Given the description of an element on the screen output the (x, y) to click on. 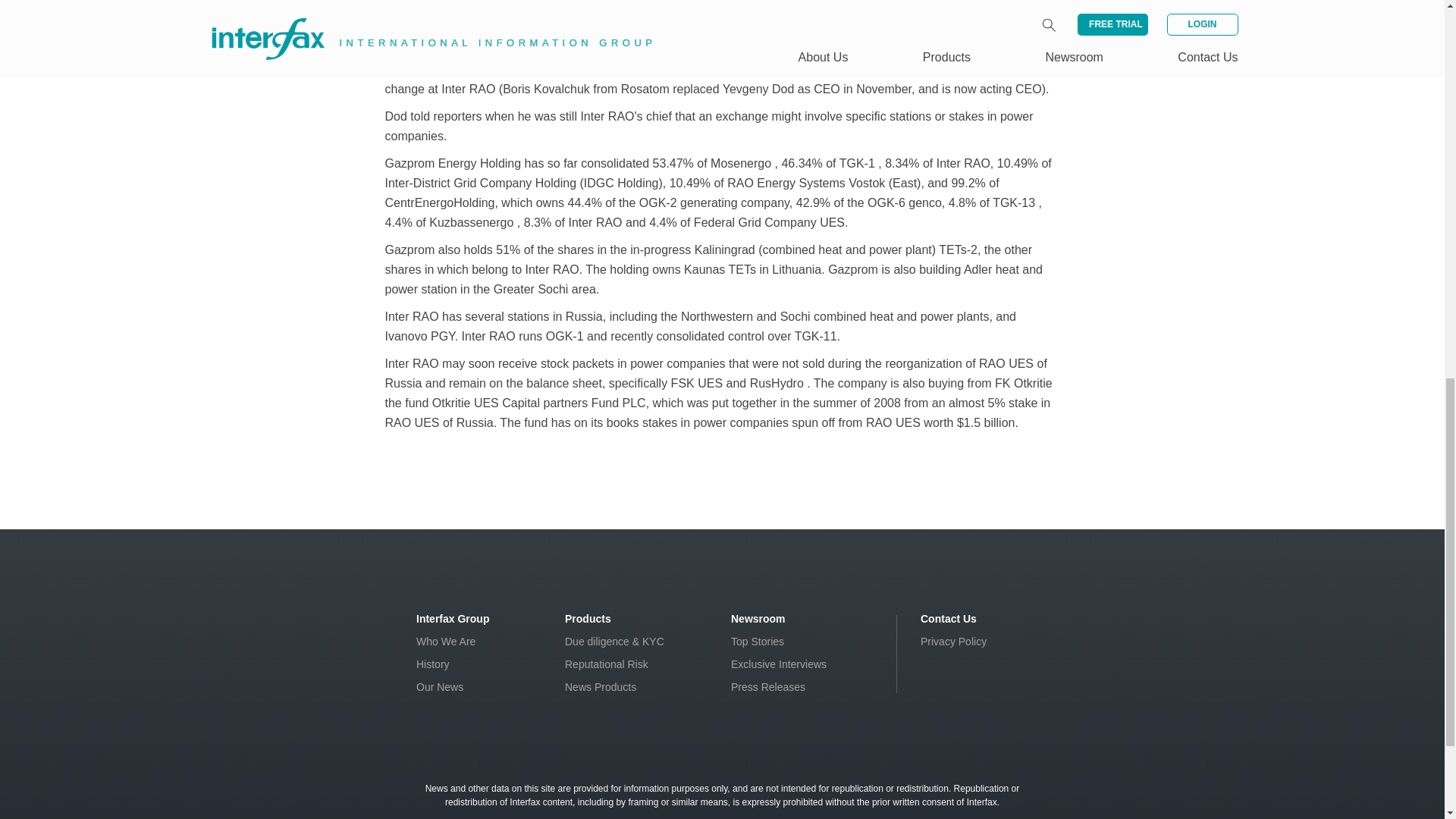
History (432, 664)
Who We Are (446, 641)
Interfax Group (452, 618)
Our News (439, 686)
